Given the description of an element on the screen output the (x, y) to click on. 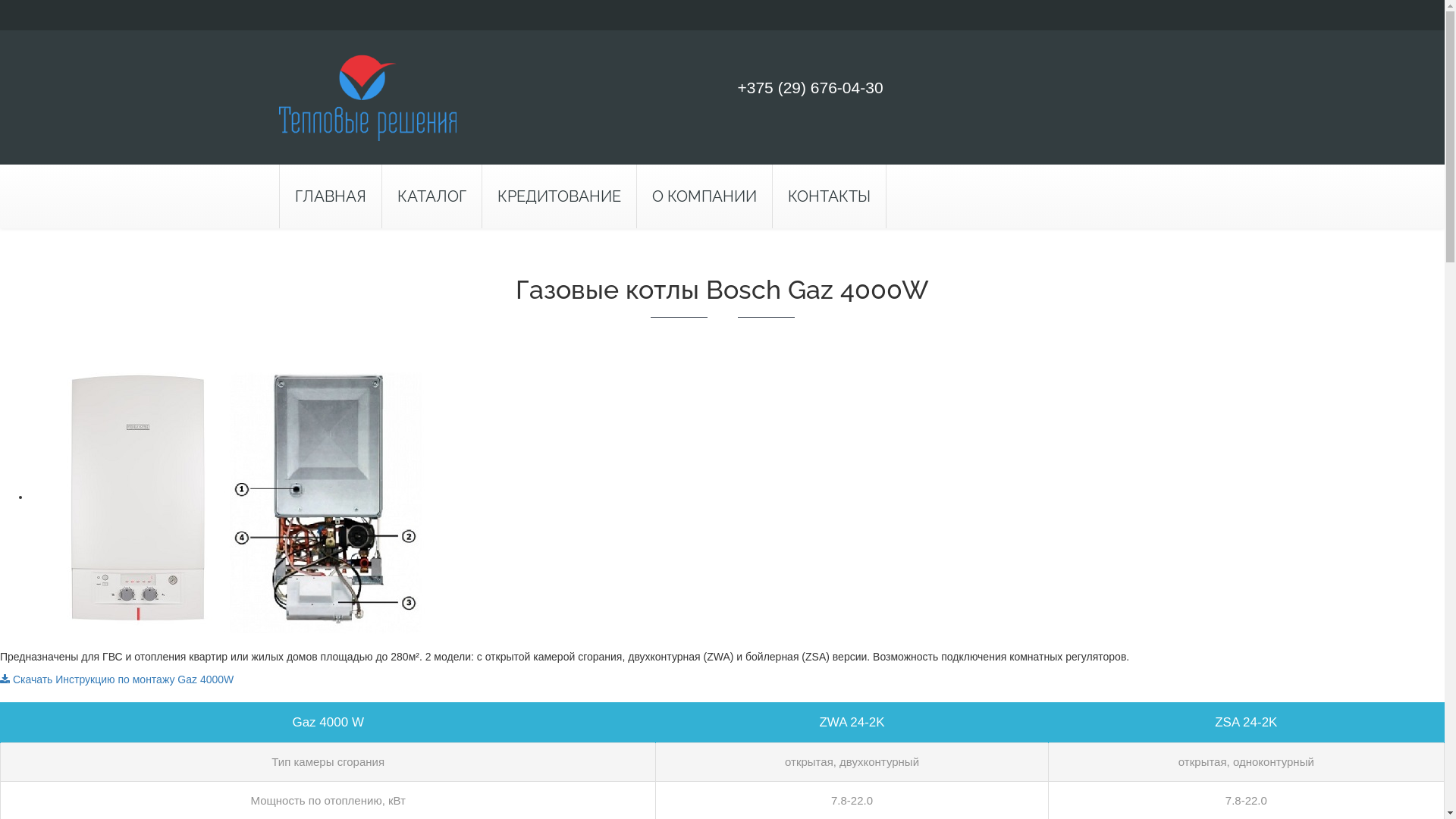
+375 (29) 676-04-30 Element type: text (809, 87)
gas 4000W front Element type: hover (238, 497)
